Given the description of an element on the screen output the (x, y) to click on. 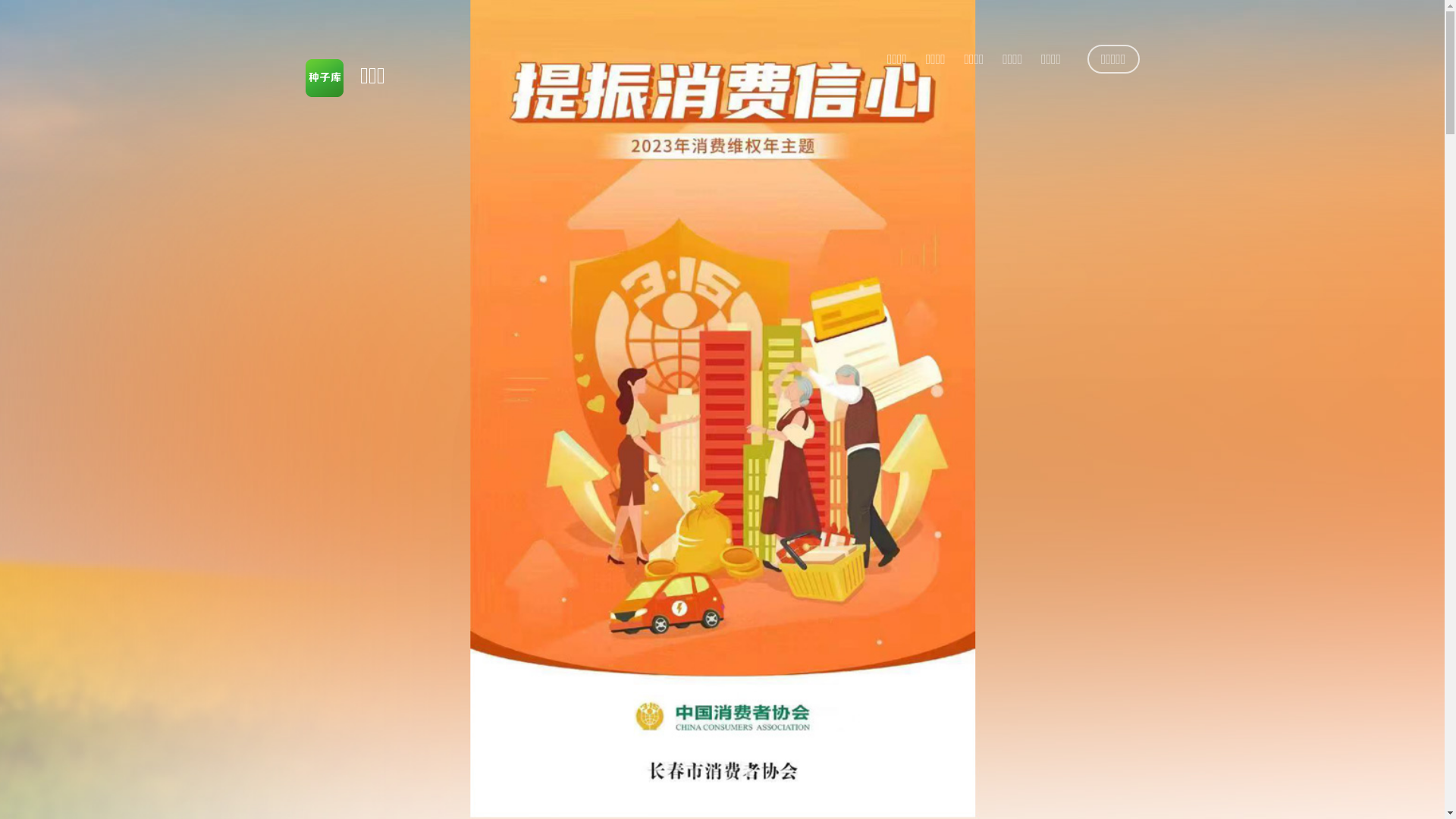
2 Element type: text (712, 772)
3 Element type: text (730, 772)
1 Element type: text (694, 772)
4 Element type: text (748, 772)
